Given the description of an element on the screen output the (x, y) to click on. 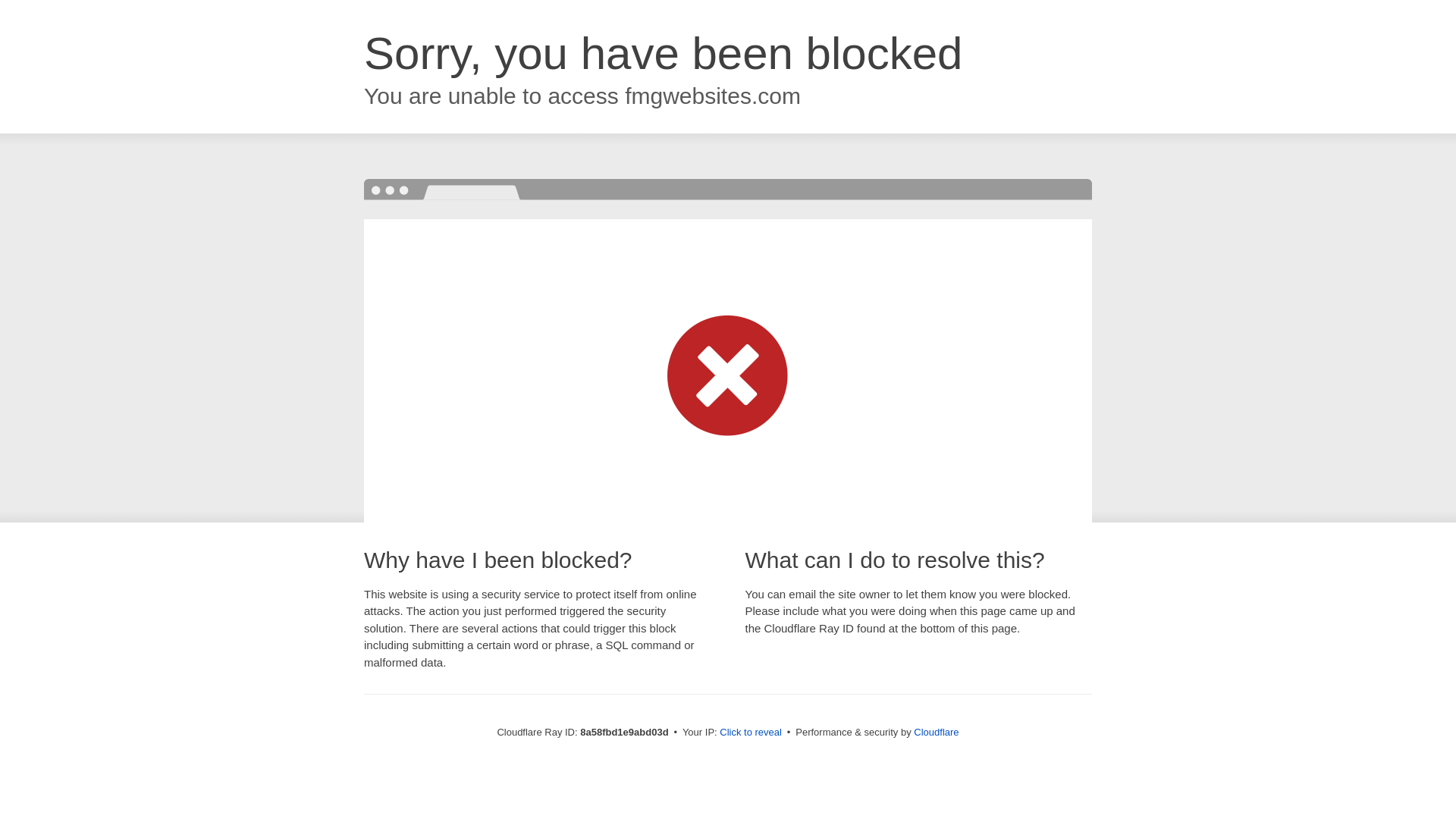
Cloudflare (936, 731)
Click to reveal (750, 732)
